Given the description of an element on the screen output the (x, y) to click on. 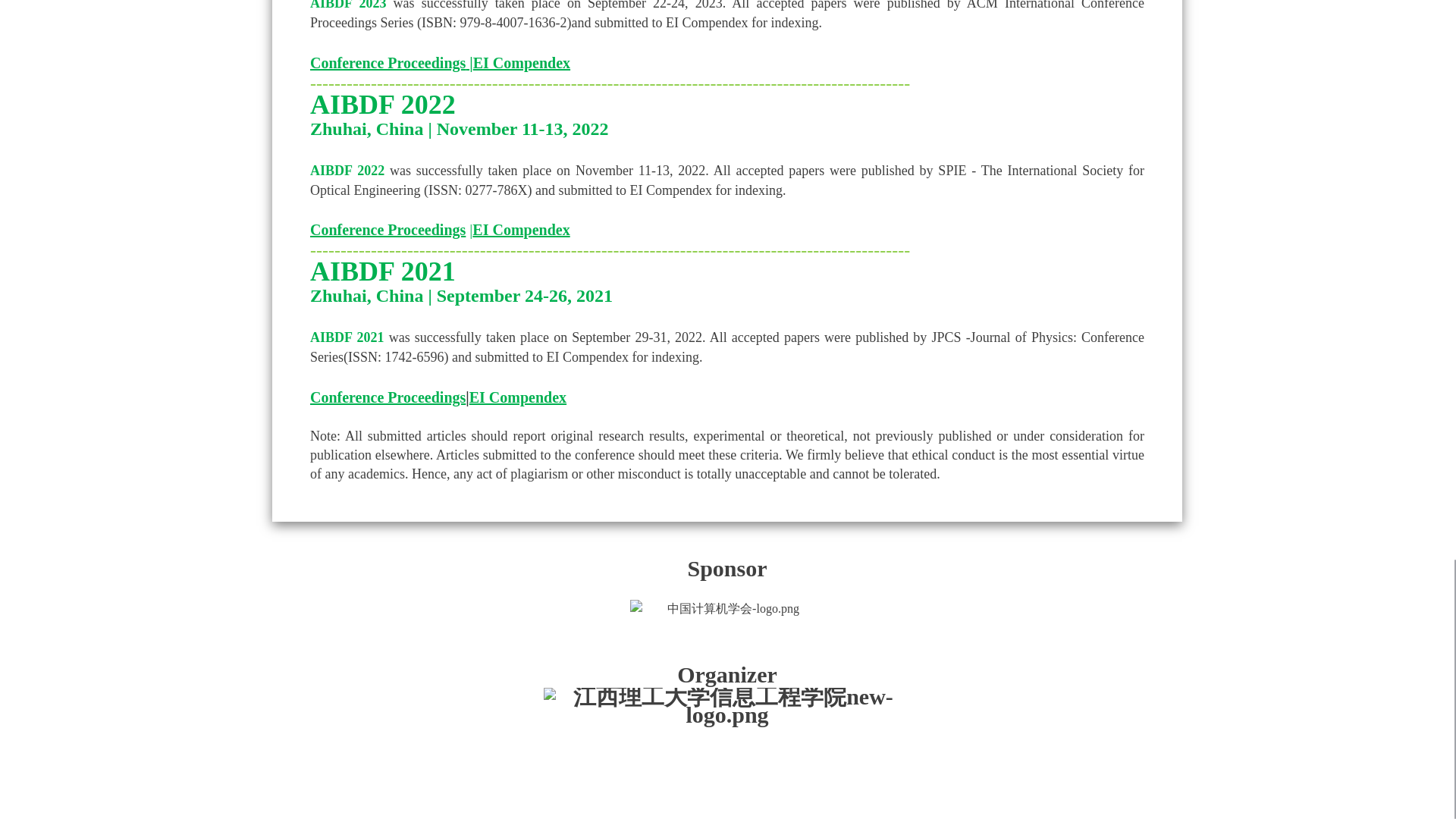
AIBDF2023-EI.png (521, 62)
EI Compendex (520, 229)
EI Compendex (521, 62)
EI Compendex (517, 397)
Conference Proceedings (387, 397)
Conference Proceedings (387, 229)
